Given the description of an element on the screen output the (x, y) to click on. 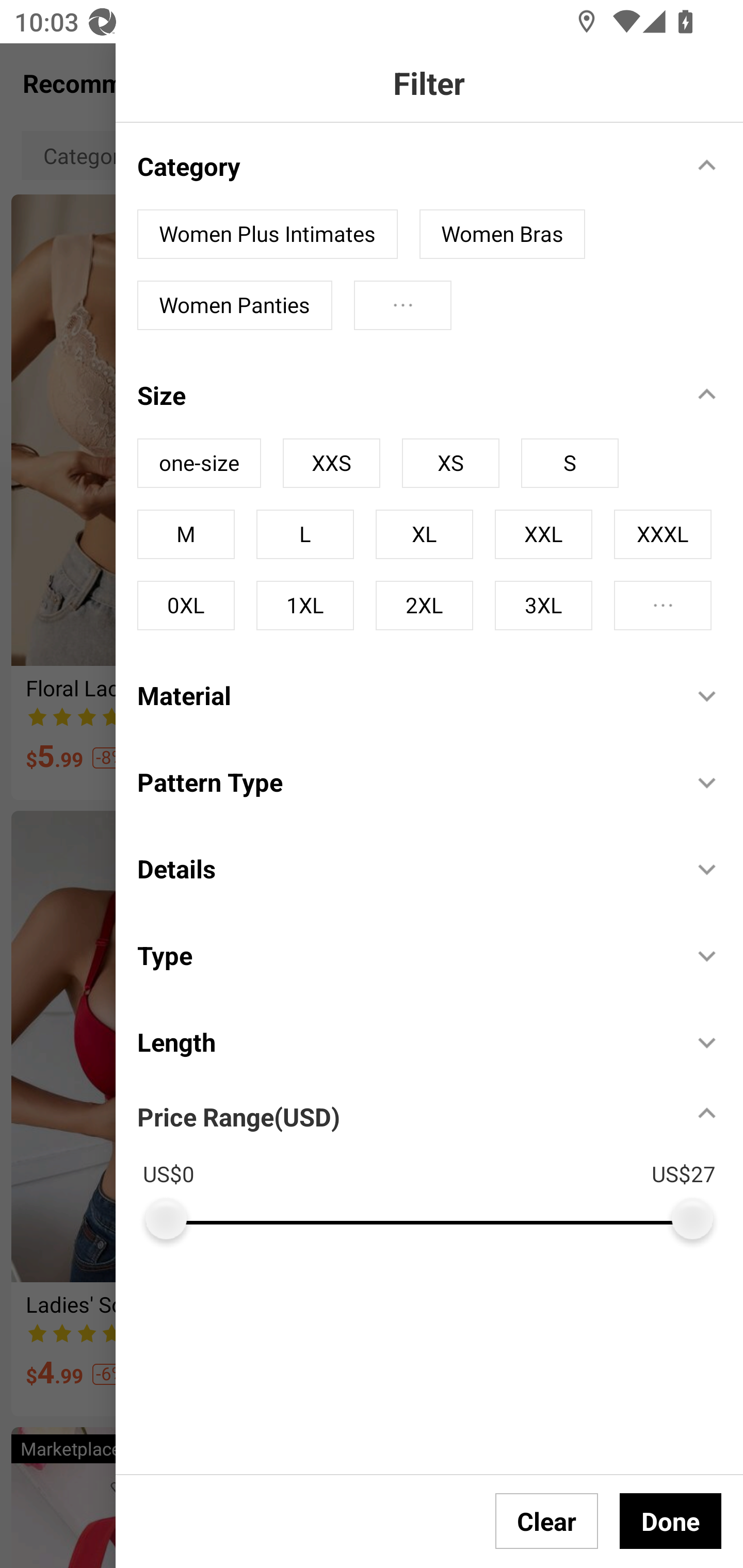
Category (403, 166)
Women Plus Intimates (267, 234)
Women Bras (502, 234)
Women Panties (234, 305)
Size (403, 395)
one-size (198, 463)
XXS (331, 463)
XS (450, 463)
S (569, 463)
M (185, 534)
L (304, 534)
XL (424, 534)
XXL (543, 534)
XXXL (662, 534)
0XL (185, 605)
1XL (304, 605)
2XL (424, 605)
3XL (543, 605)
Material (403, 695)
Pattern Type (403, 781)
Details (403, 868)
Type (403, 954)
Length (403, 1041)
Price Range(USD) US$0 US$27 (440, 1161)
Price Range(USD) (238, 1116)
Clear (546, 1520)
Done (670, 1520)
